Given the description of an element on the screen output the (x, y) to click on. 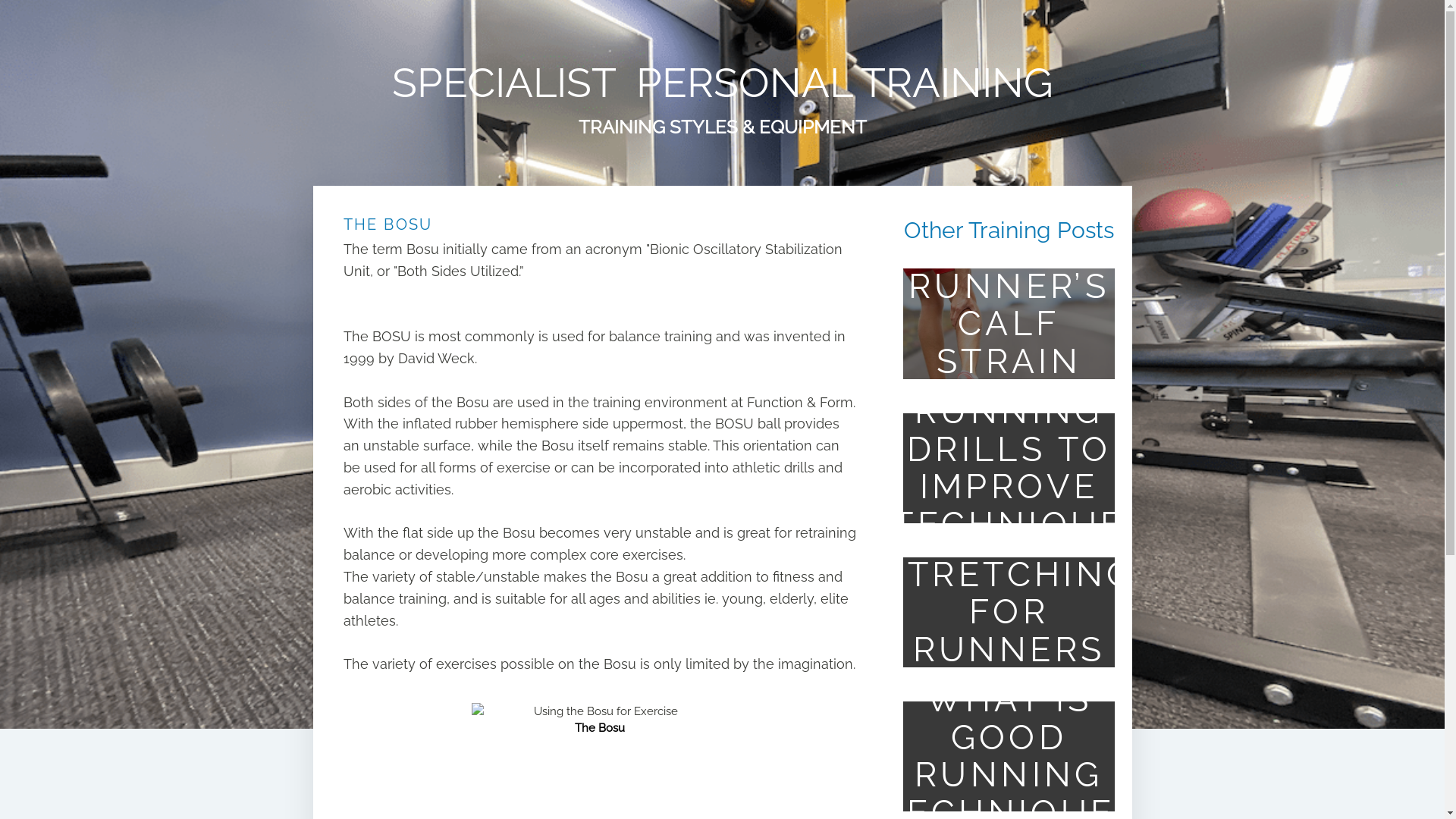
RUNNING DRILLS TO IMPROVE TECHNIQUE Element type: text (1008, 467)
STRETCHING FOR RUNNERS Element type: text (1008, 611)
